Given the description of an element on the screen output the (x, y) to click on. 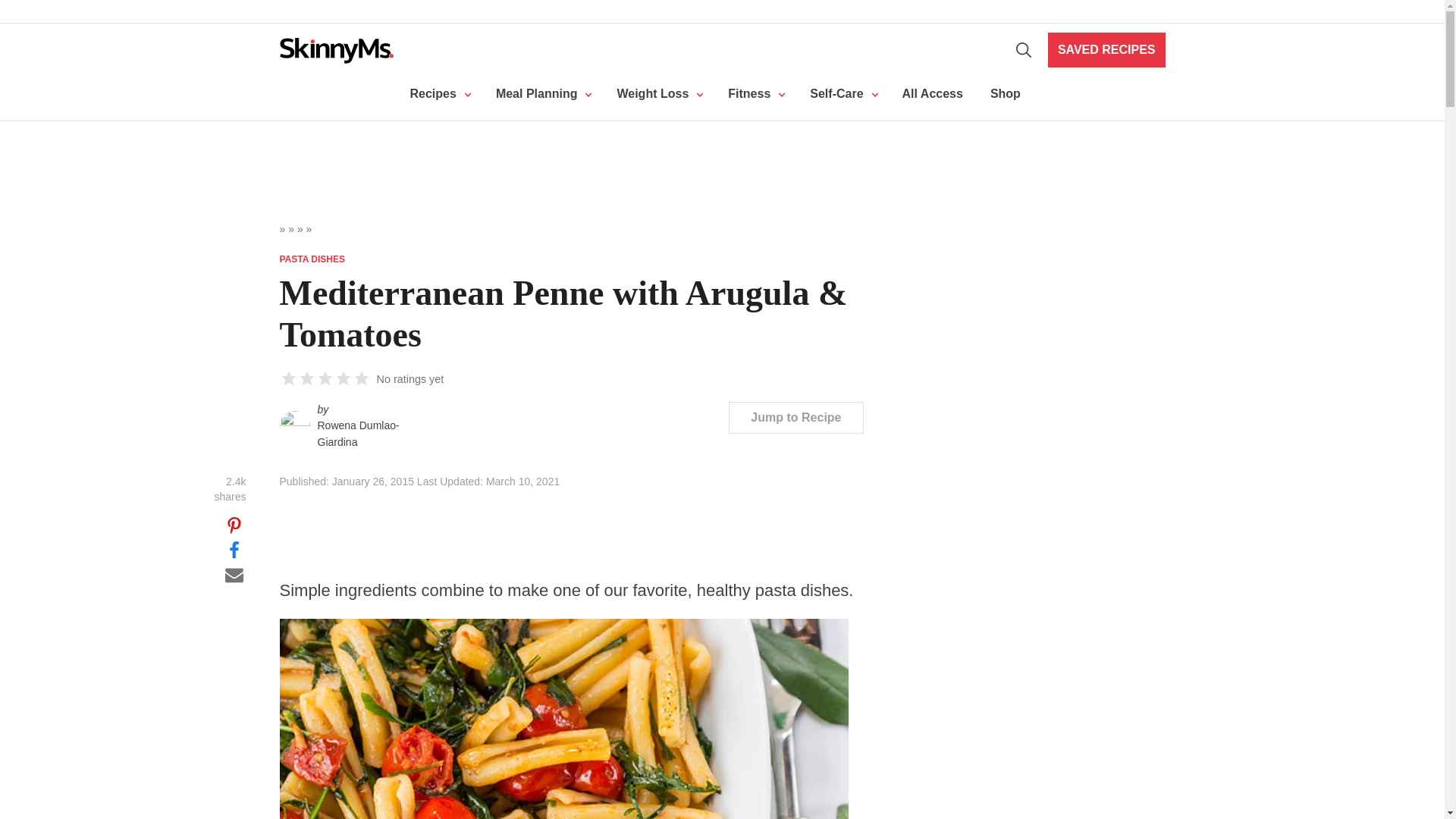
SAVED RECIPES (1107, 49)
Recipes (438, 94)
Weight Loss Recipes And Menus (541, 94)
Share on Pinterest (233, 525)
Share via Email (233, 573)
Skinny Ms. (336, 49)
Search (1023, 49)
Share on Facebook (233, 549)
